Given the description of an element on the screen output the (x, y) to click on. 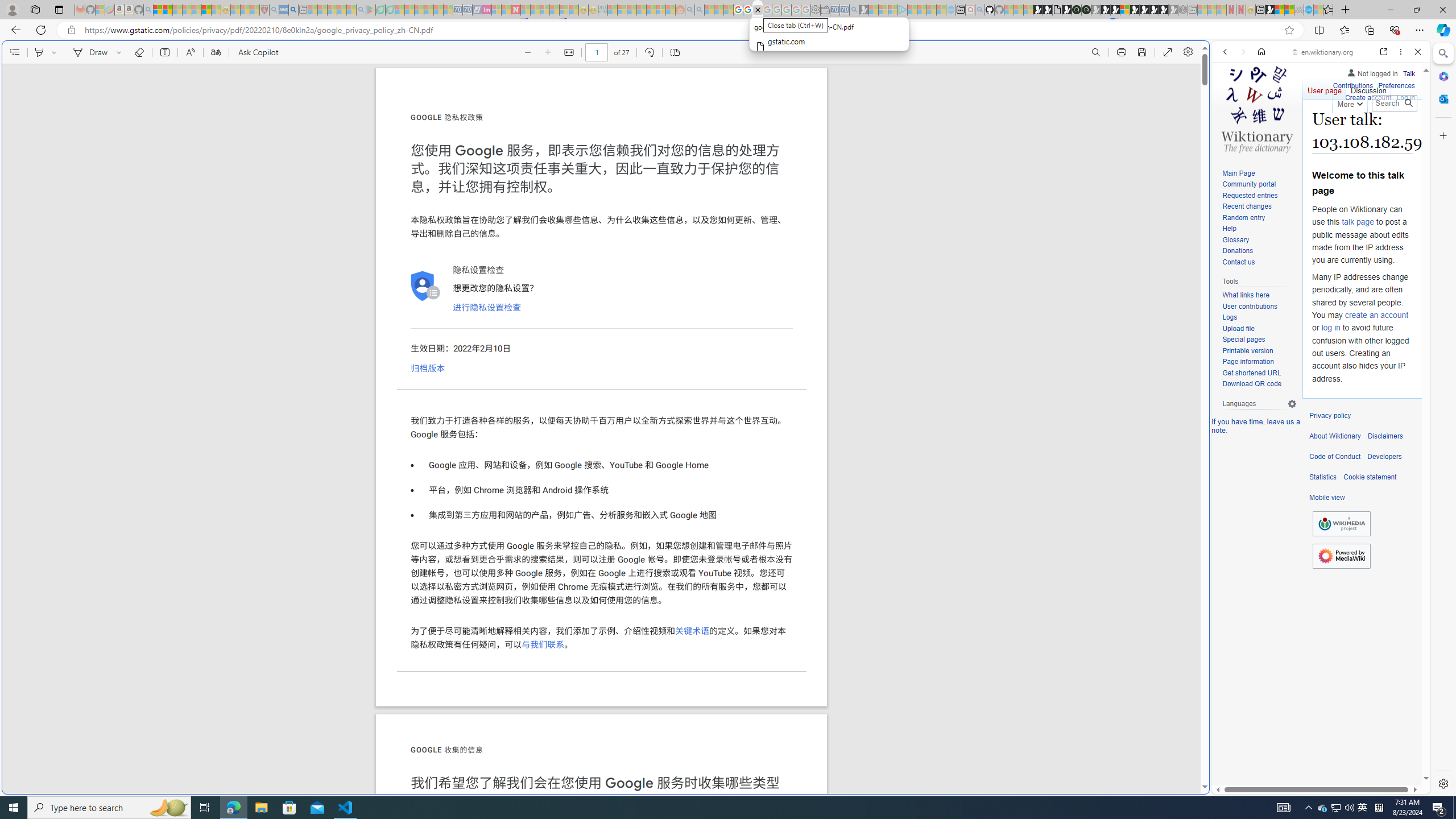
Disclaimers (1385, 436)
This site scope (1259, 102)
Glossary (1235, 239)
Settings and more (1187, 52)
Upload file (1259, 328)
talk page (1357, 221)
Contributions (1352, 84)
Utah sues federal government - Search - Sleeping (699, 9)
Save (Ctrl+S) (1142, 52)
